Given the description of an element on the screen output the (x, y) to click on. 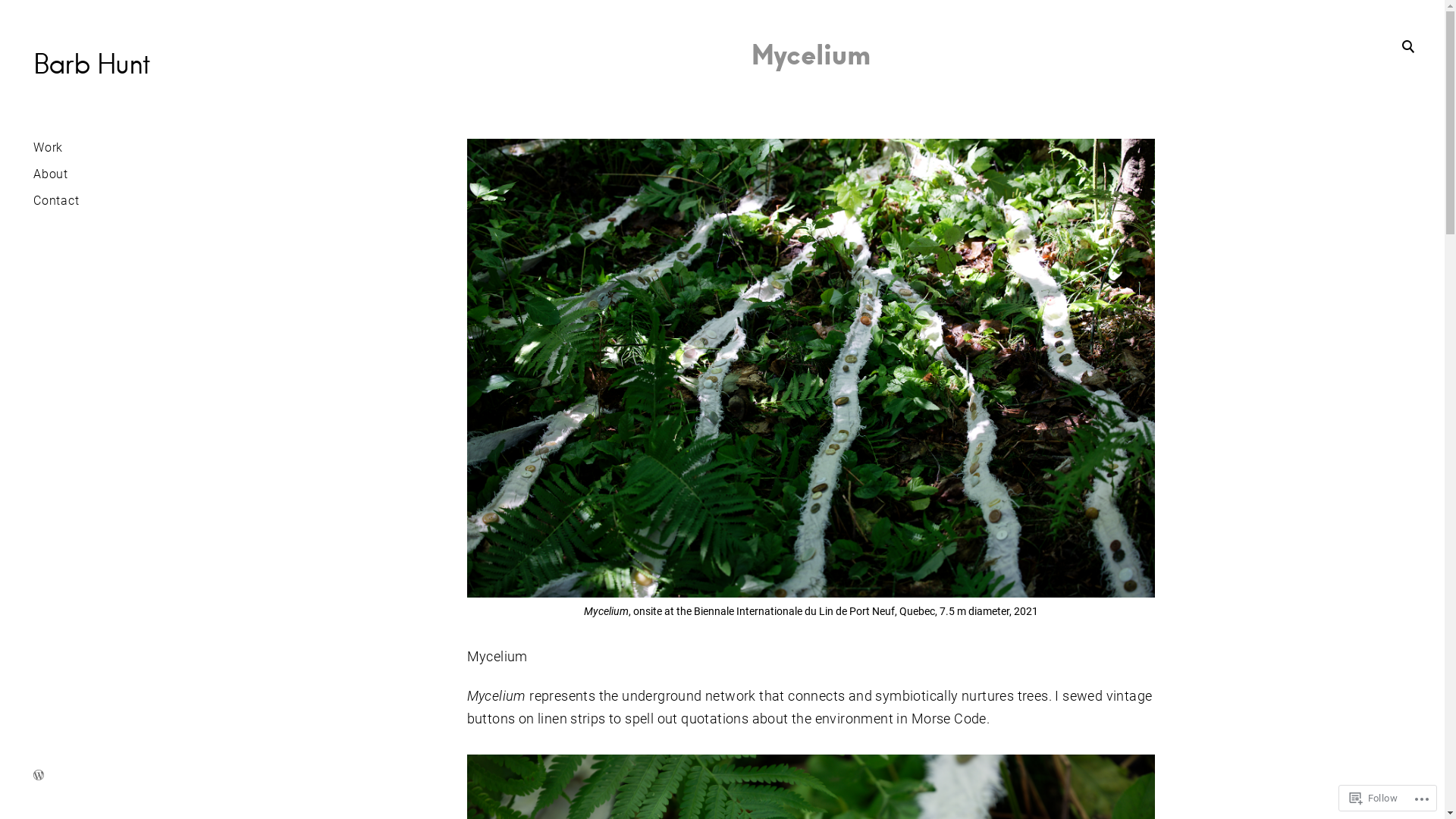
Work Element type: text (47, 148)
Barb Hunt Element type: text (91, 63)
About Element type: text (50, 174)
Contact Element type: text (56, 201)
Create a website or blog at WordPress.com Element type: text (38, 776)
Follow Element type: text (1373, 797)
Search Element type: text (25, 20)
